Given the description of an element on the screen output the (x, y) to click on. 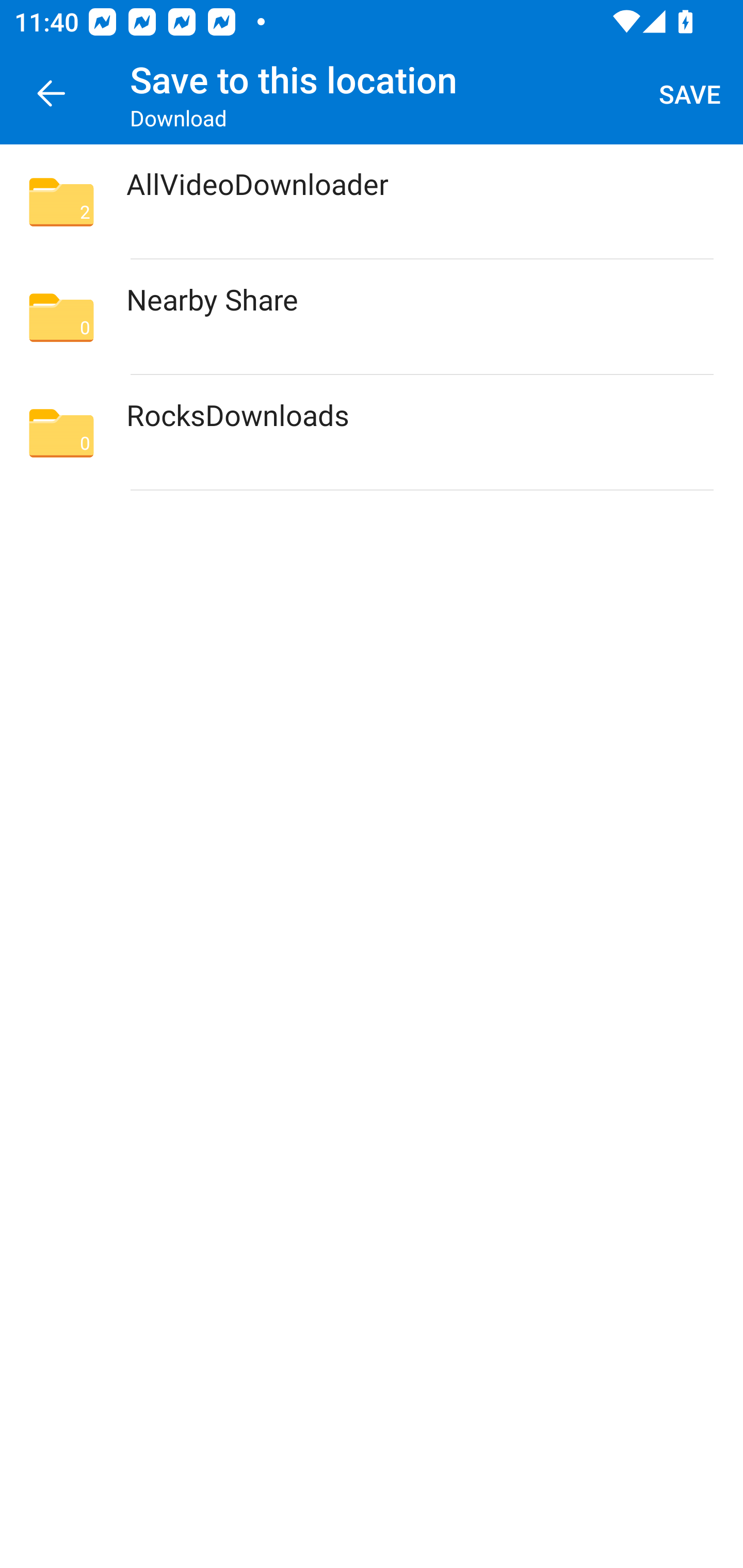
Navigate up (50, 93)
SAVE (690, 93)
Folder 2 2 items AllVideoDownloader (371, 202)
Folder 0 0 items Nearby Share (371, 317)
Folder 0 0 items RocksDownloads (371, 432)
